Given the description of an element on the screen output the (x, y) to click on. 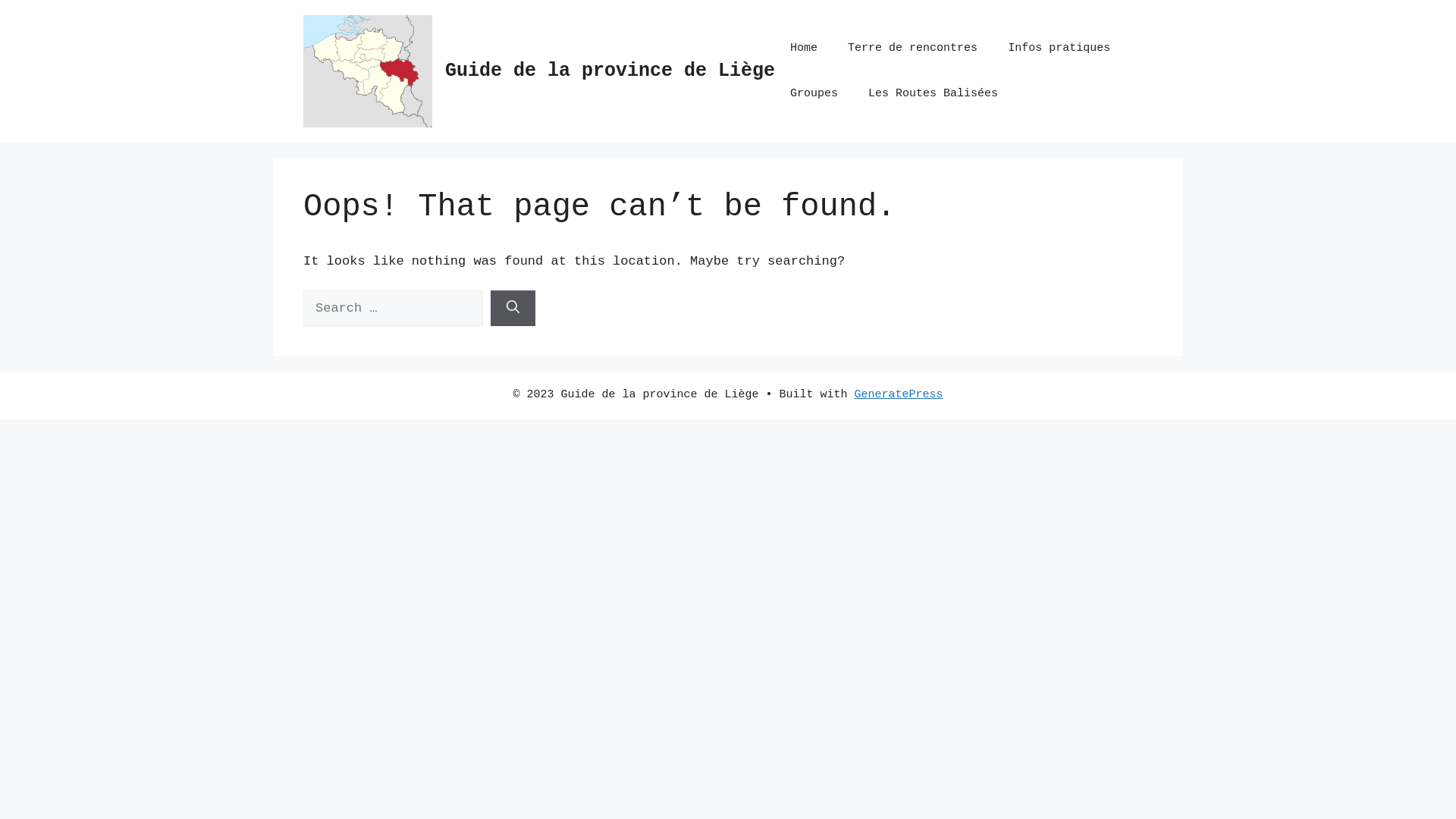
Groupes Element type: text (814, 93)
Terre de rencontres Element type: text (912, 48)
GeneratePress Element type: text (898, 394)
Infos pratiques Element type: text (1058, 48)
Search for: Element type: hover (393, 308)
Home Element type: text (803, 48)
